Given the description of an element on the screen output the (x, y) to click on. 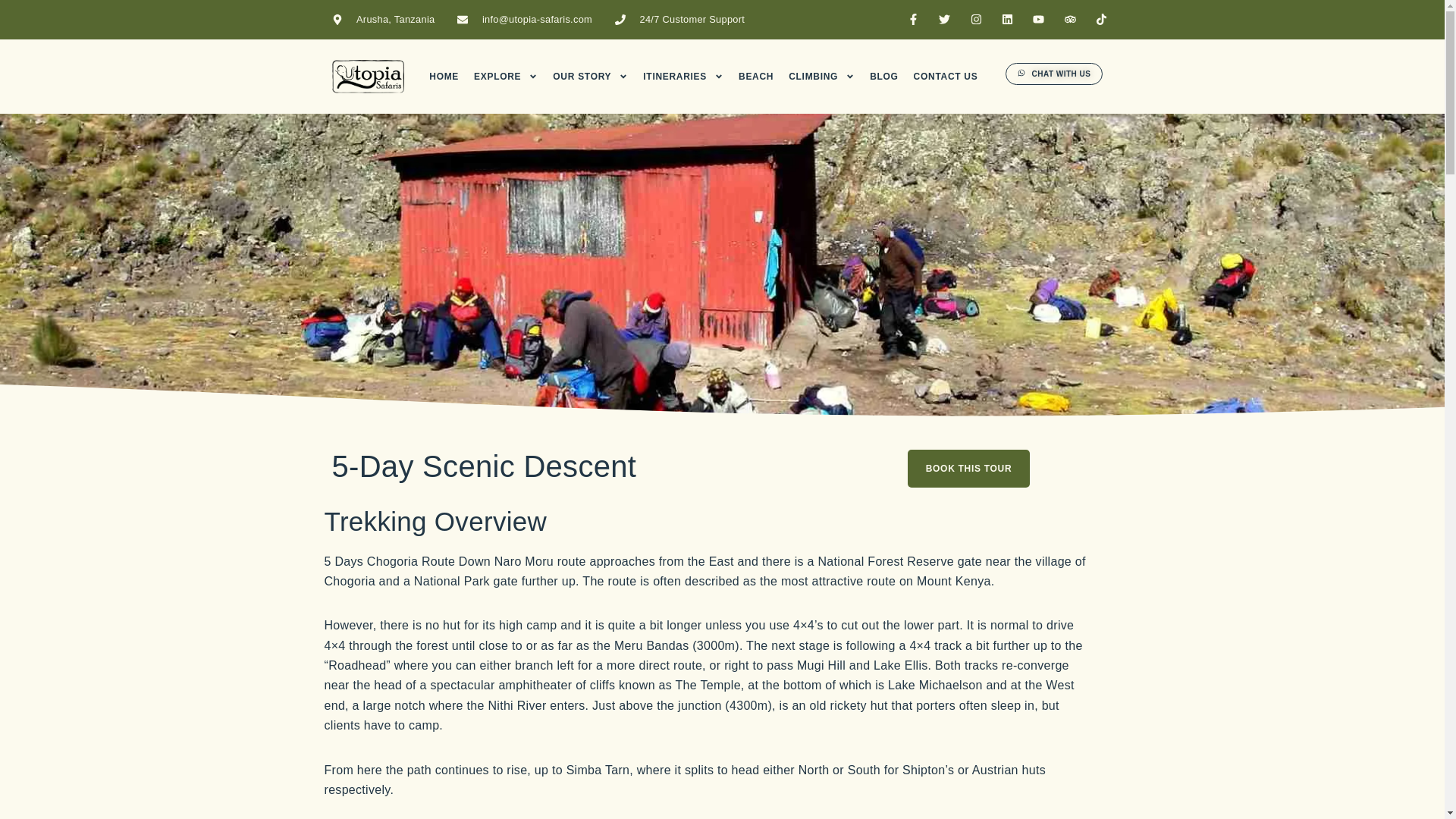
CONTACT US (946, 76)
EXPLORE (505, 76)
ITINERARIES (683, 76)
CLIMBING (821, 76)
OUR STORY (590, 76)
